Given the description of an element on the screen output the (x, y) to click on. 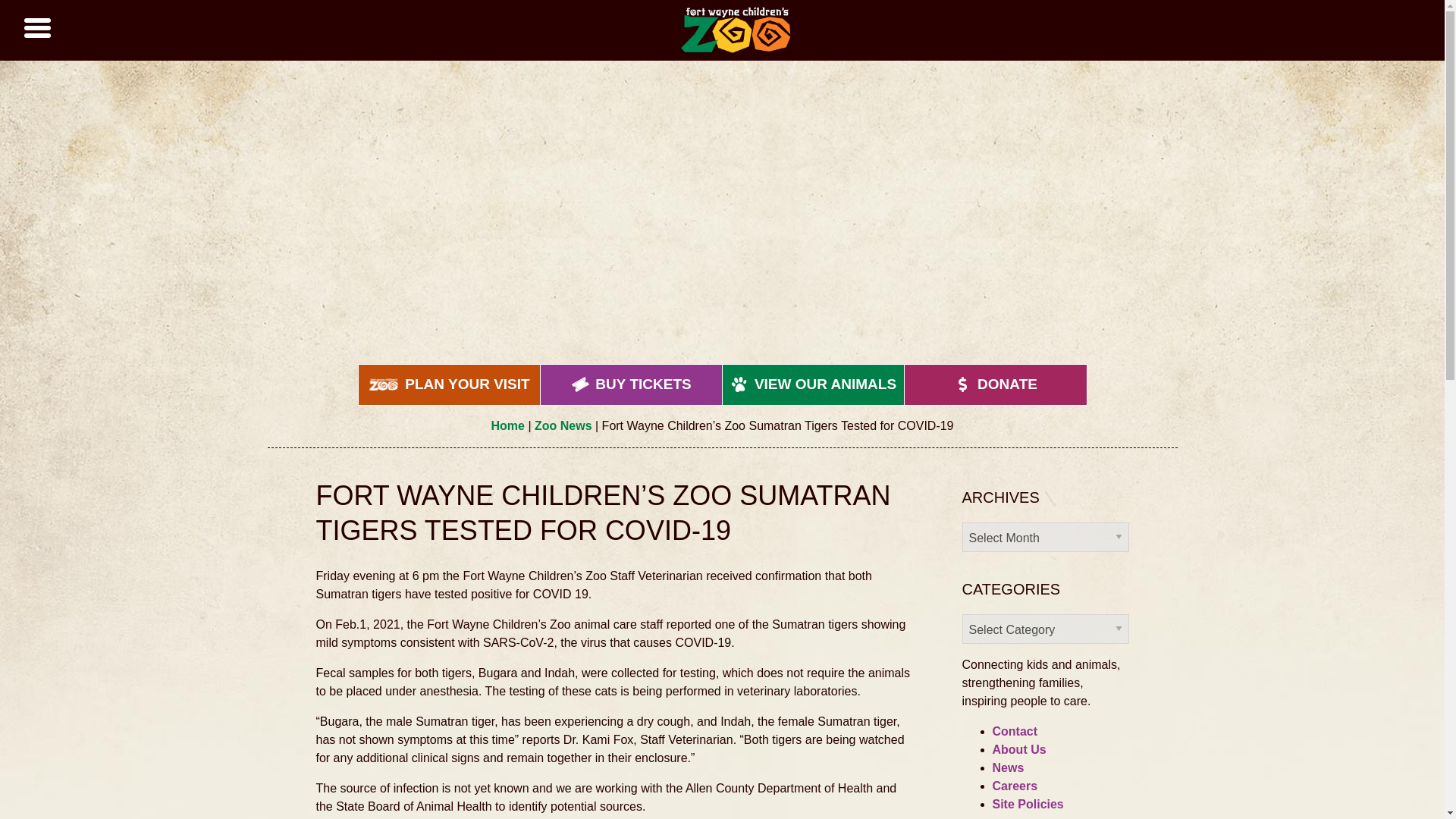
PLAN YOUR VISIT (449, 384)
Site Policies (1026, 803)
Zoo News (563, 424)
DONATE (995, 384)
Home (508, 424)
BUY TICKETS (631, 384)
News (1007, 767)
Careers (1013, 785)
VIEW OUR ANIMALS (813, 384)
Contact (1013, 730)
About Us (1018, 748)
